Given the description of an element on the screen output the (x, y) to click on. 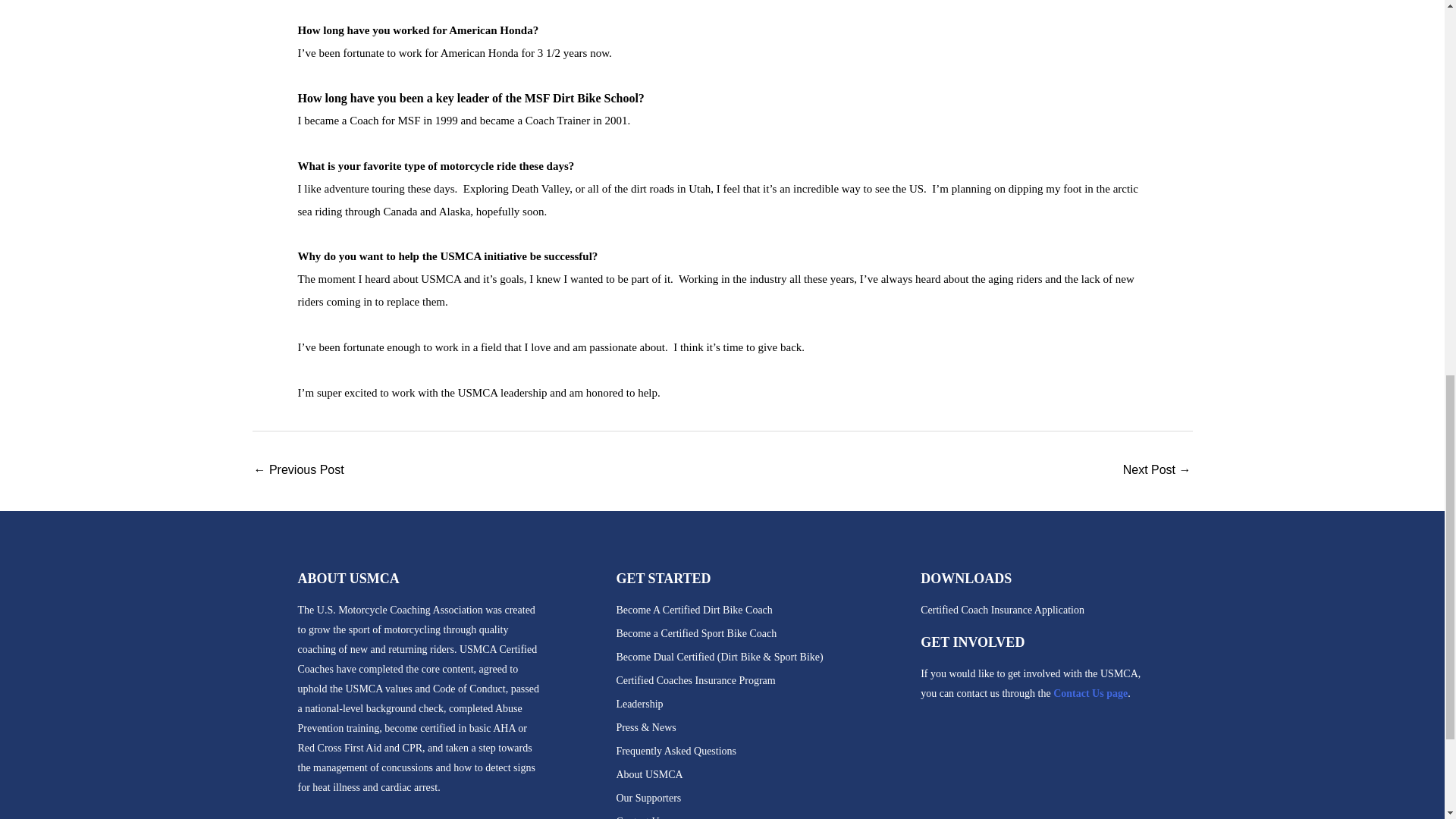
Update from AIMExpo 2018 (1156, 471)
Dunlop Joins the USMCA as Official Tire Partner (298, 471)
Become A Certified Dirt Bike Coach (760, 609)
